Given the description of an element on the screen output the (x, y) to click on. 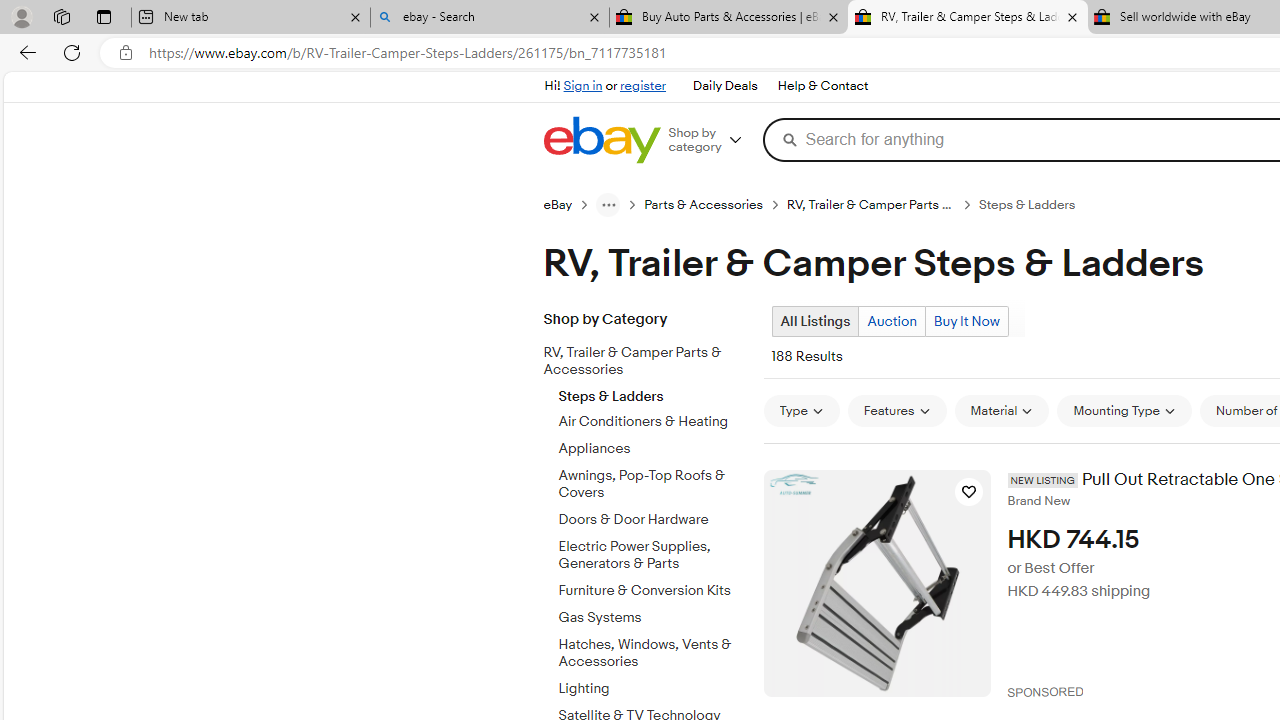
Shop by category (711, 140)
eBay Home (601, 139)
Mounting Type (1124, 410)
RV, Trailer & Camper Steps & Ladders for sale | eBay (967, 17)
Lighting (653, 685)
Daily Deals (724, 85)
Electric Power Supplies, Generators & Parts (653, 551)
Parts & Accessories (703, 205)
Gas Systems (653, 618)
Sign in (582, 85)
Auction (891, 321)
Doors & Door Hardware (653, 516)
Furniture & Conversion Kits (653, 591)
